Given the description of an element on the screen output the (x, y) to click on. 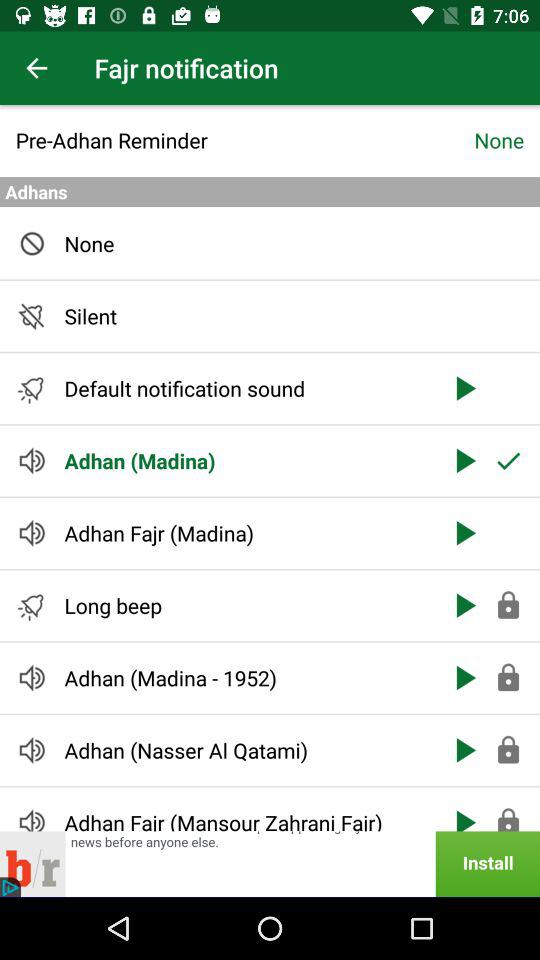
select icon below pre-adhan reminder item (270, 192)
